Given the description of an element on the screen output the (x, y) to click on. 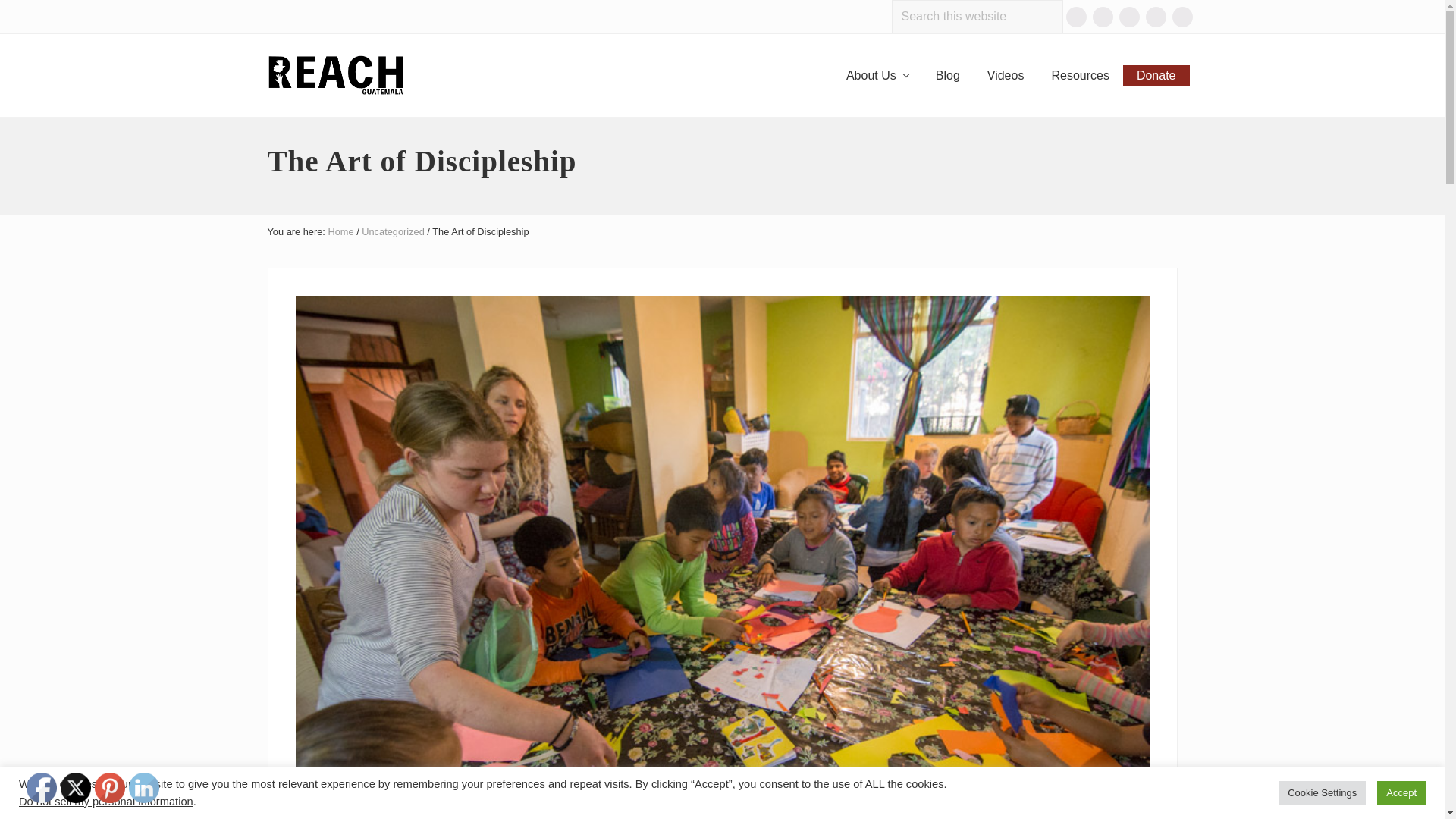
Vimeo (1155, 16)
Resources (1080, 75)
Donate (1156, 75)
Email (1075, 16)
Blog (947, 75)
About Us (877, 75)
Home (340, 231)
Uncategorized (393, 231)
Phone (1129, 16)
Facebook (1102, 16)
Phone (1129, 16)
Facebook (41, 788)
Facebook (1102, 16)
Twitter (75, 788)
Email (1075, 16)
